Given the description of an element on the screen output the (x, y) to click on. 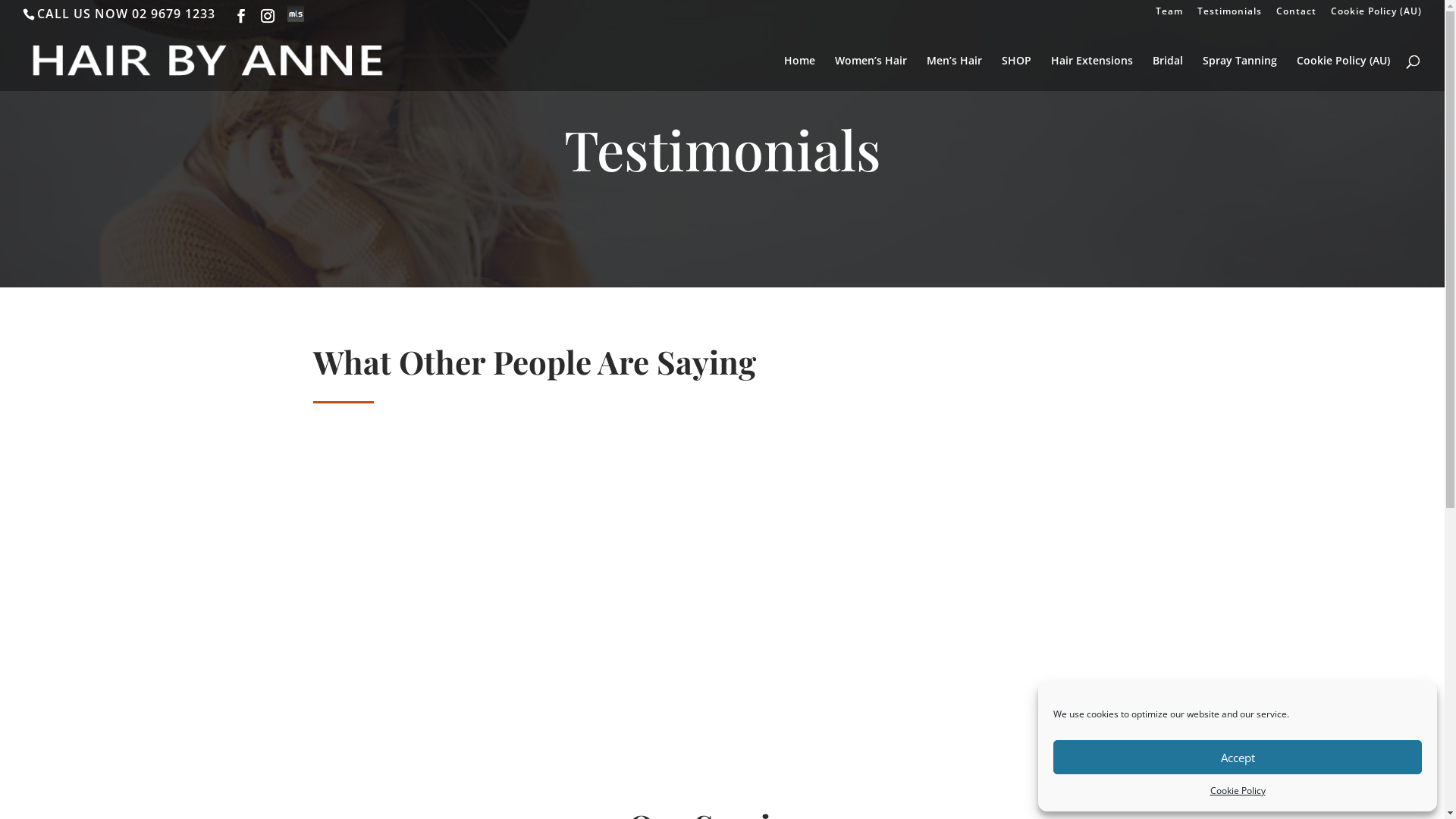
Cookie Policy Element type: text (1237, 790)
Hair Extensions Element type: text (1091, 73)
SHOP Element type: text (1016, 73)
Cookie Policy (AU) Element type: text (1343, 73)
Testimonials Element type: text (1229, 14)
MyLocalSalon Element type: hover (295, 14)
Team Element type: text (1169, 14)
Contact Element type: text (1296, 14)
Home Element type: text (799, 73)
Accept Element type: text (1237, 757)
Bridal Element type: text (1167, 73)
Cookie Policy (AU) Element type: text (1375, 14)
Spray Tanning Element type: text (1239, 73)
